Given the description of an element on the screen output the (x, y) to click on. 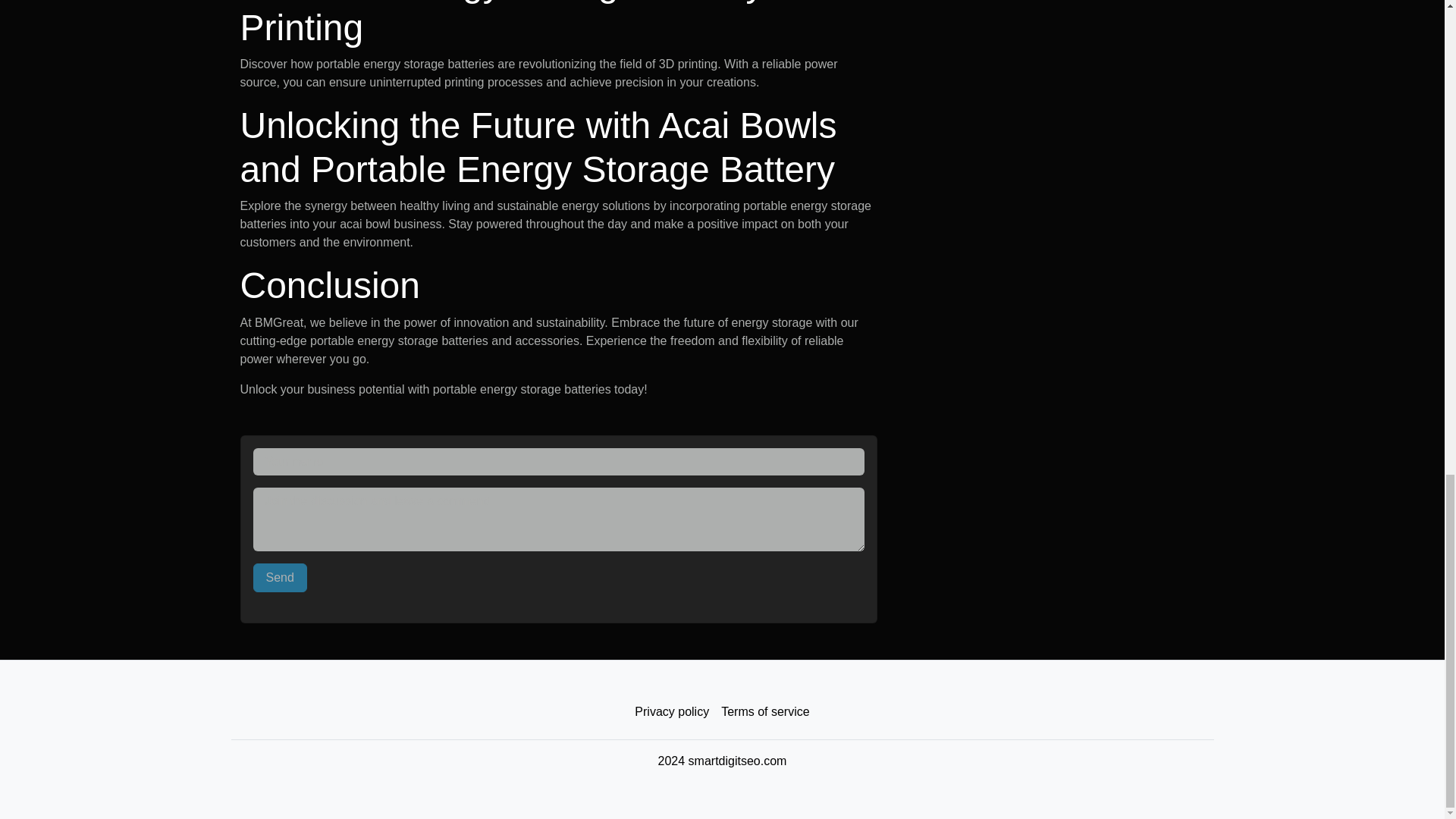
Privacy policy (671, 711)
Send (280, 577)
Terms of service (764, 711)
Send (280, 577)
